Given the description of an element on the screen output the (x, y) to click on. 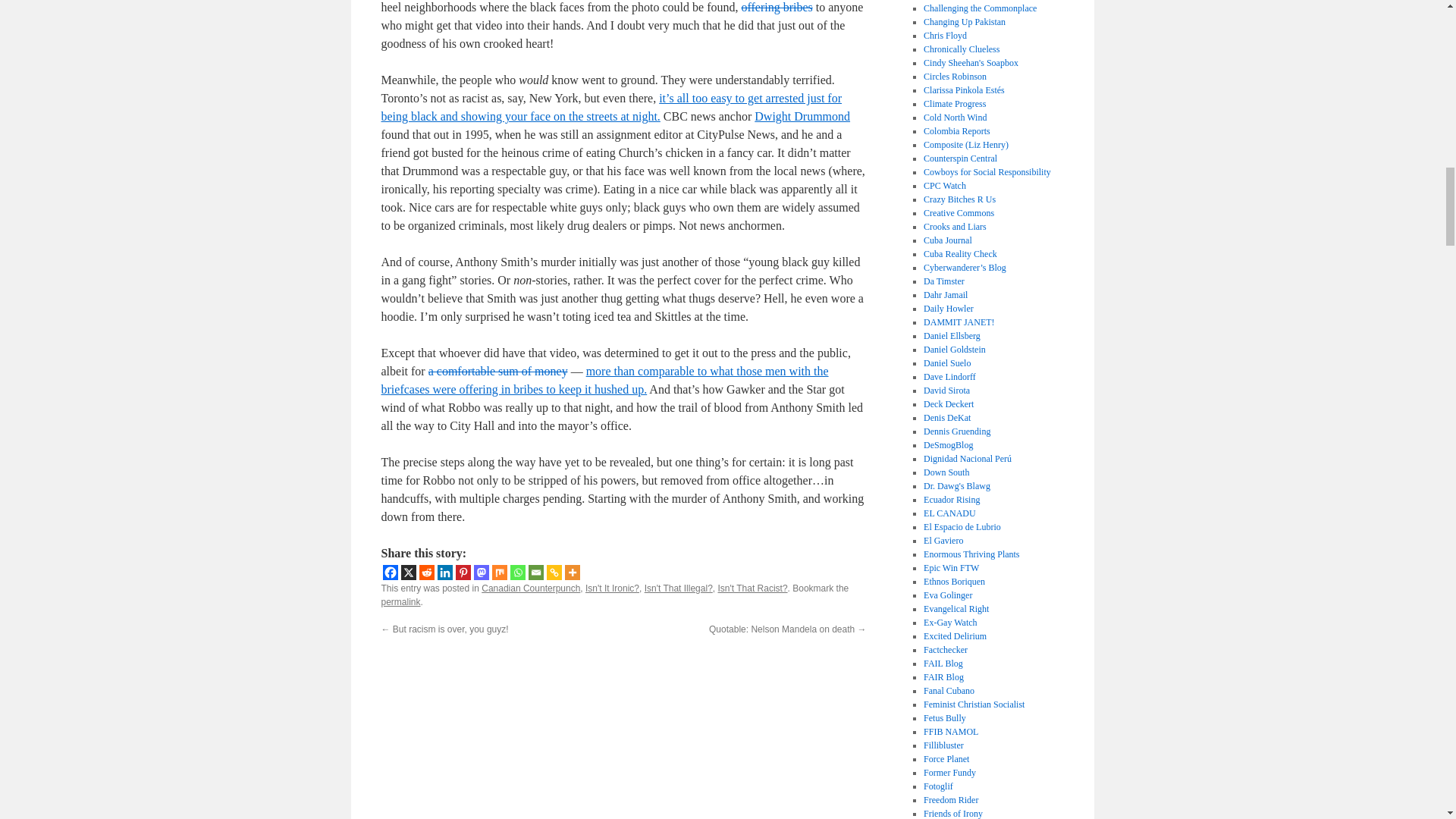
Isn't It Ironic? (612, 588)
Facebook (389, 572)
Dwight Drummond (802, 115)
Mix (499, 572)
X (407, 572)
Email (535, 572)
Copy Link (553, 572)
Permalink to Time for Robbo to go to jail (400, 602)
permalink (400, 602)
